Given the description of an element on the screen output the (x, y) to click on. 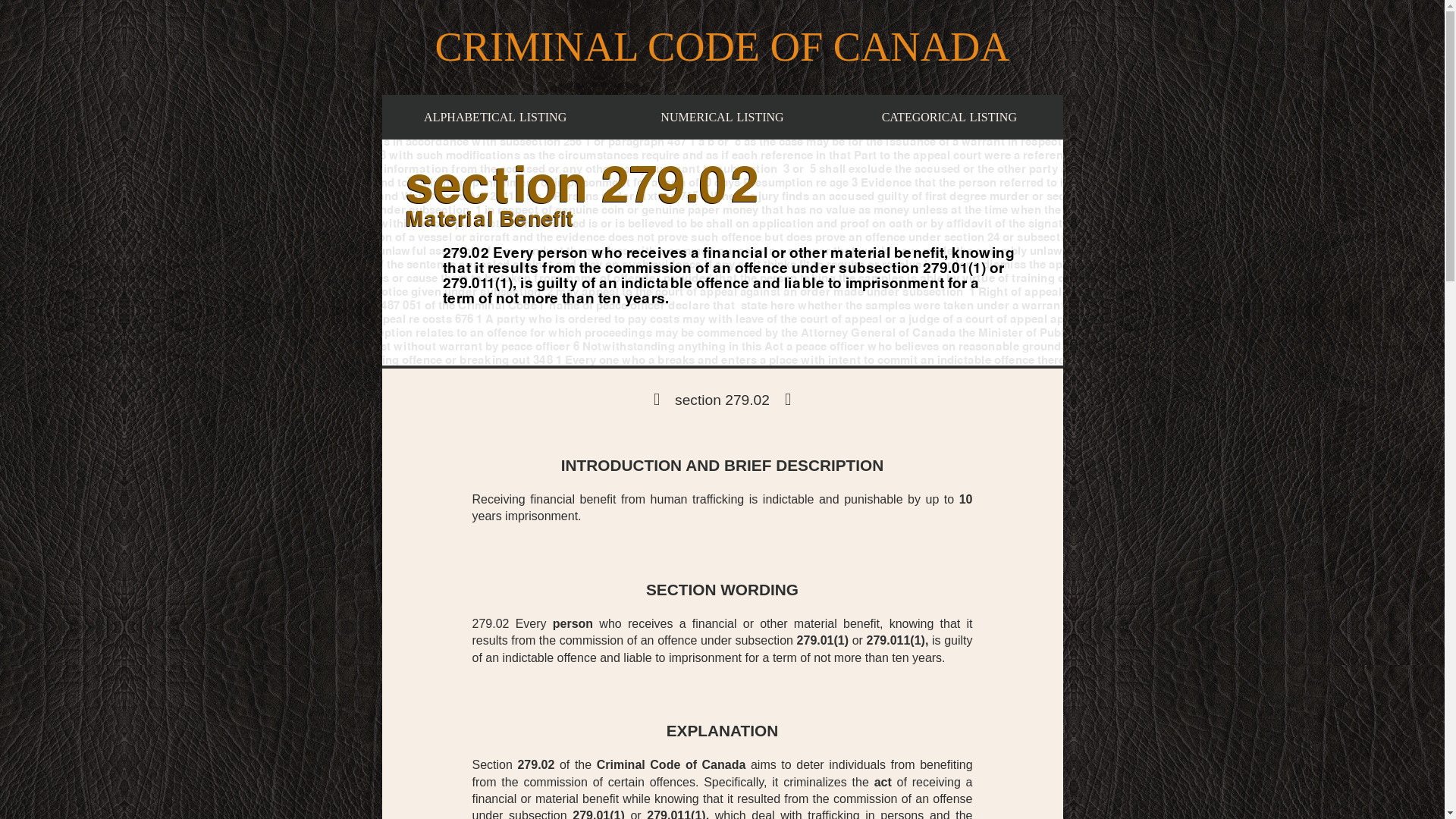
alphabetical guide to the Criminal Code of Canada (494, 117)
act (948, 117)
Criminal Code of Canada (494, 117)
numerical guide to the Criminal Code of Canada (883, 781)
279.02 (670, 764)
categorical guide to the Criminal Code of Canada (721, 117)
The definition of the term  (721, 117)
10 (535, 764)
person (948, 117)
Introduction and preface to the Criminal Code of Canada. (883, 781)
